Given the description of an element on the screen output the (x, y) to click on. 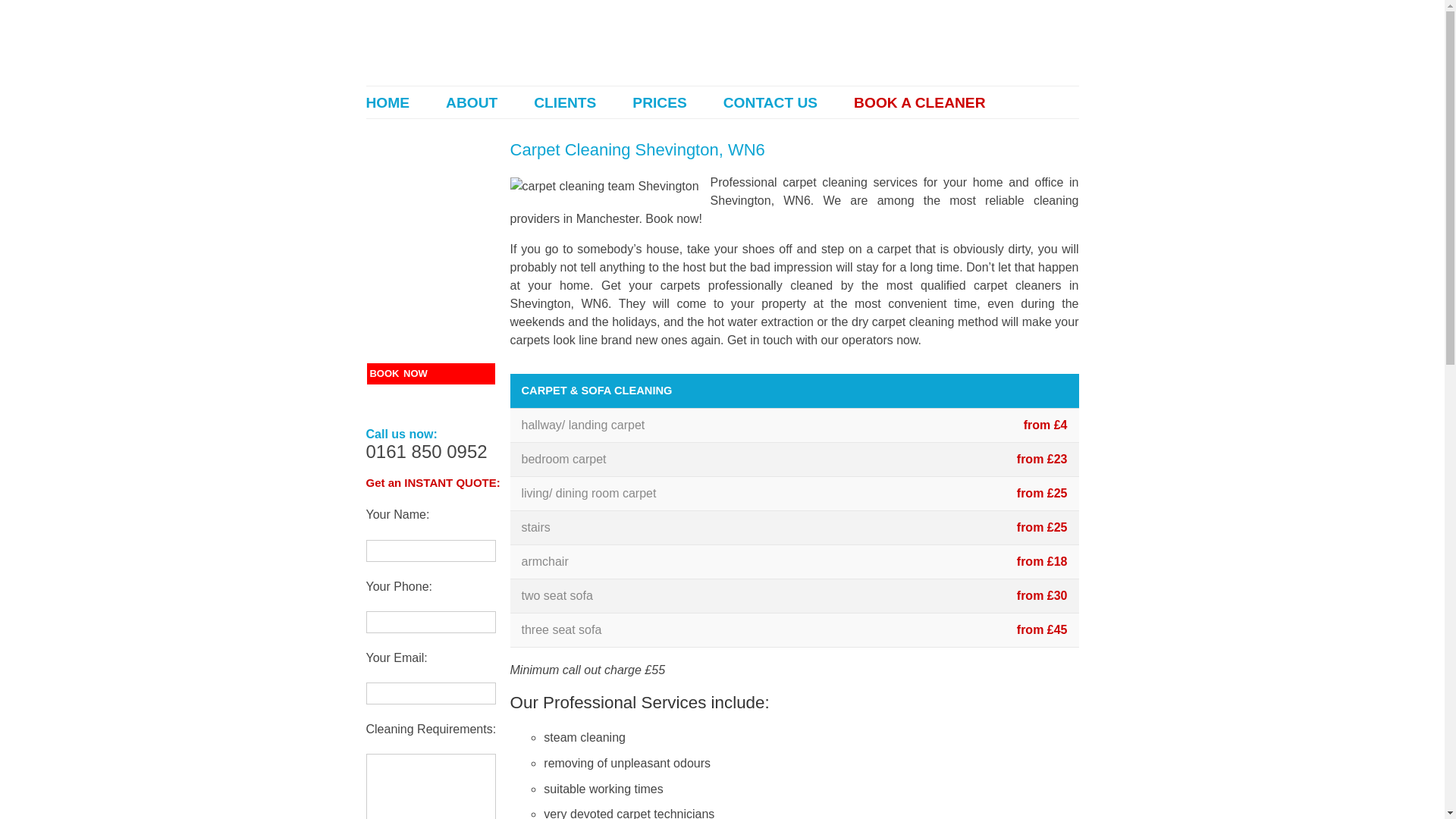
End of Tenancy Cleaning (430, 187)
Builders Cleaning Service (430, 280)
Carpet Cleaning Service (430, 210)
Gardening Services (430, 350)
One Off Cleaning (430, 303)
HOME (387, 102)
House Cleaning (430, 257)
BOOK A CLEANER (919, 102)
PRICES (658, 102)
End of Tenancy Cleaning (430, 187)
Deep Cleaning Service (430, 327)
Carpet Cleaning (430, 210)
BOOK NOW (430, 373)
One Off Cleaning Service (430, 303)
Deep Cleaning (430, 327)
